Given the description of an element on the screen output the (x, y) to click on. 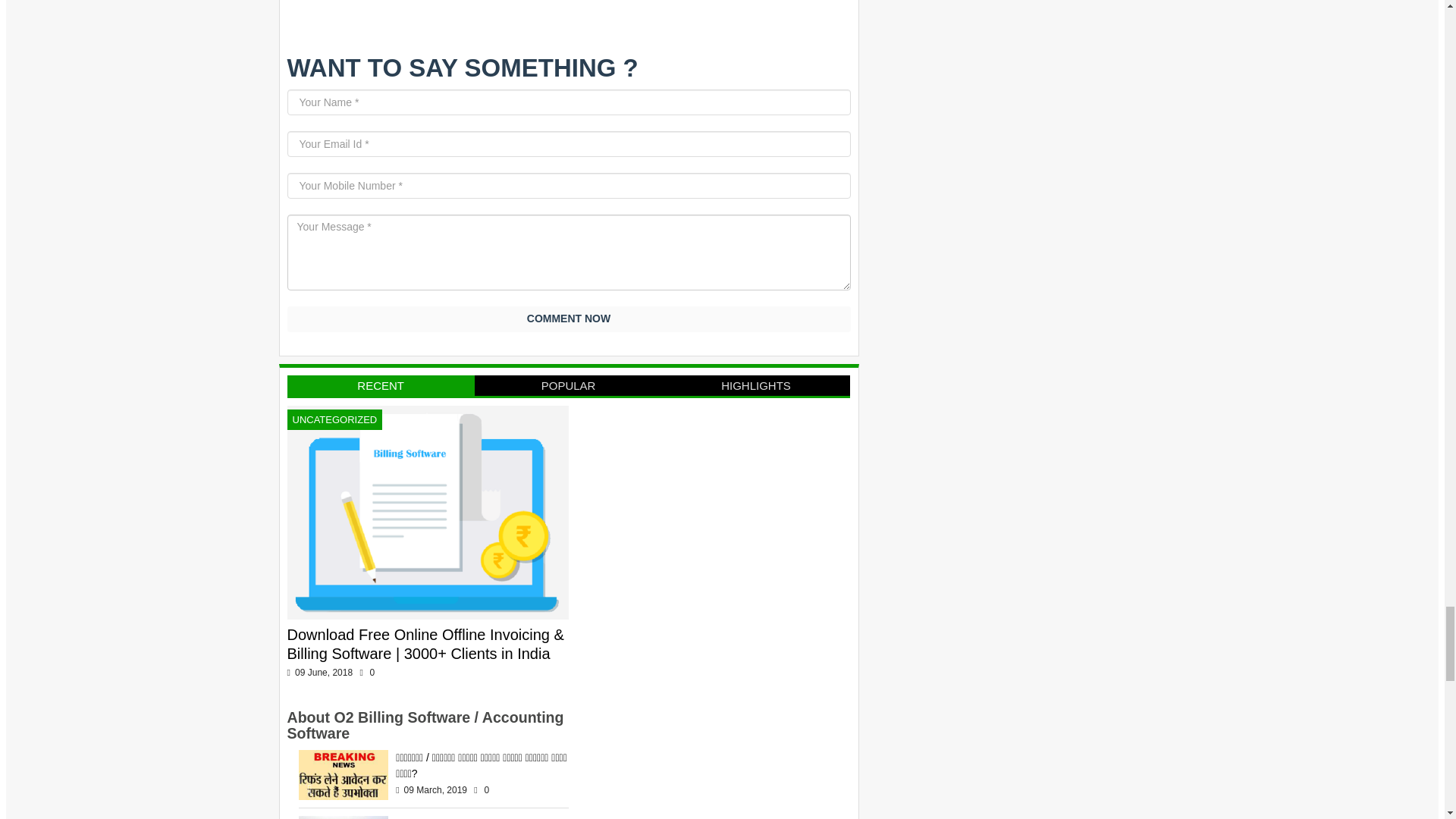
Sardar Vallabhbhai Patel International Hockey Stadium Raipur (465, 818)
COMMENT NOW (568, 319)
COMMENT NOW (568, 319)
